Given the description of an element on the screen output the (x, y) to click on. 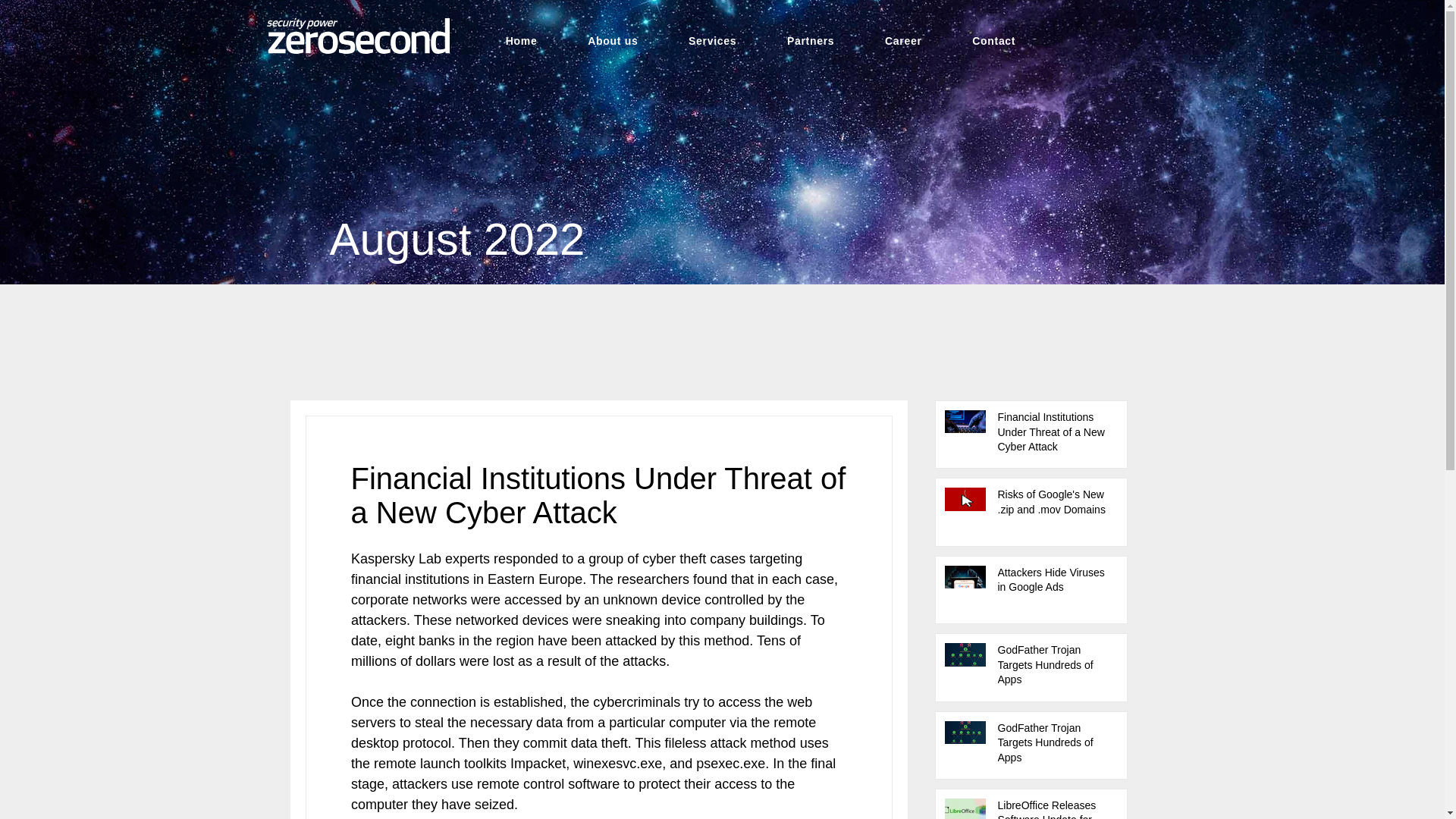
GodFather Trojan Targets Hundreds of Apps (1056, 667)
Partners (811, 40)
Financial Institutions Under Threat of a New Cyber Attack (1056, 435)
GodFather Trojan Targets Hundreds of Apps (1056, 745)
Risks of Google's New .zip and .mov Domains (1056, 505)
Contact (994, 40)
Career (903, 40)
Services (712, 40)
Attackers Hide Viruses in Google Ads (1056, 583)
Home (521, 40)
About us (613, 40)
